Given the description of an element on the screen output the (x, y) to click on. 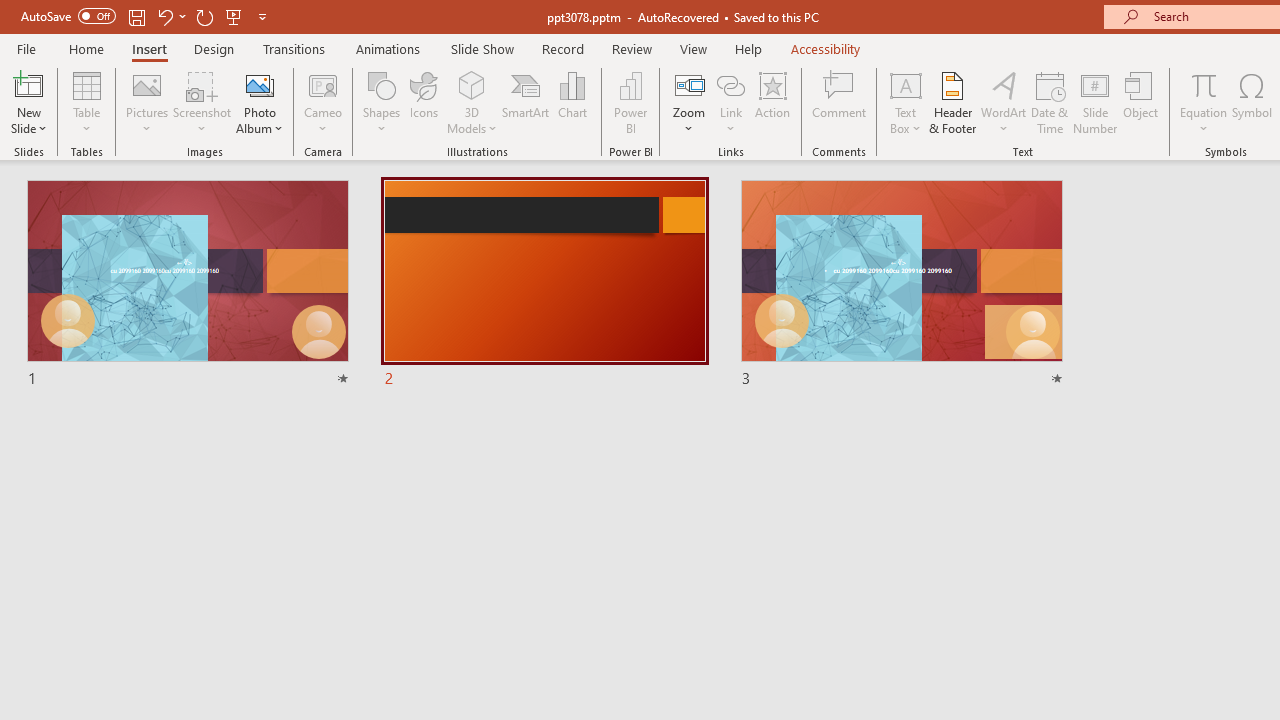
File Tab (26, 48)
AutoSave (68, 16)
Home (86, 48)
Animations (388, 48)
Pictures (147, 102)
3D Models (472, 102)
More Options (1203, 121)
From Beginning (234, 15)
Table (86, 102)
Save (136, 15)
